Given the description of an element on the screen output the (x, y) to click on. 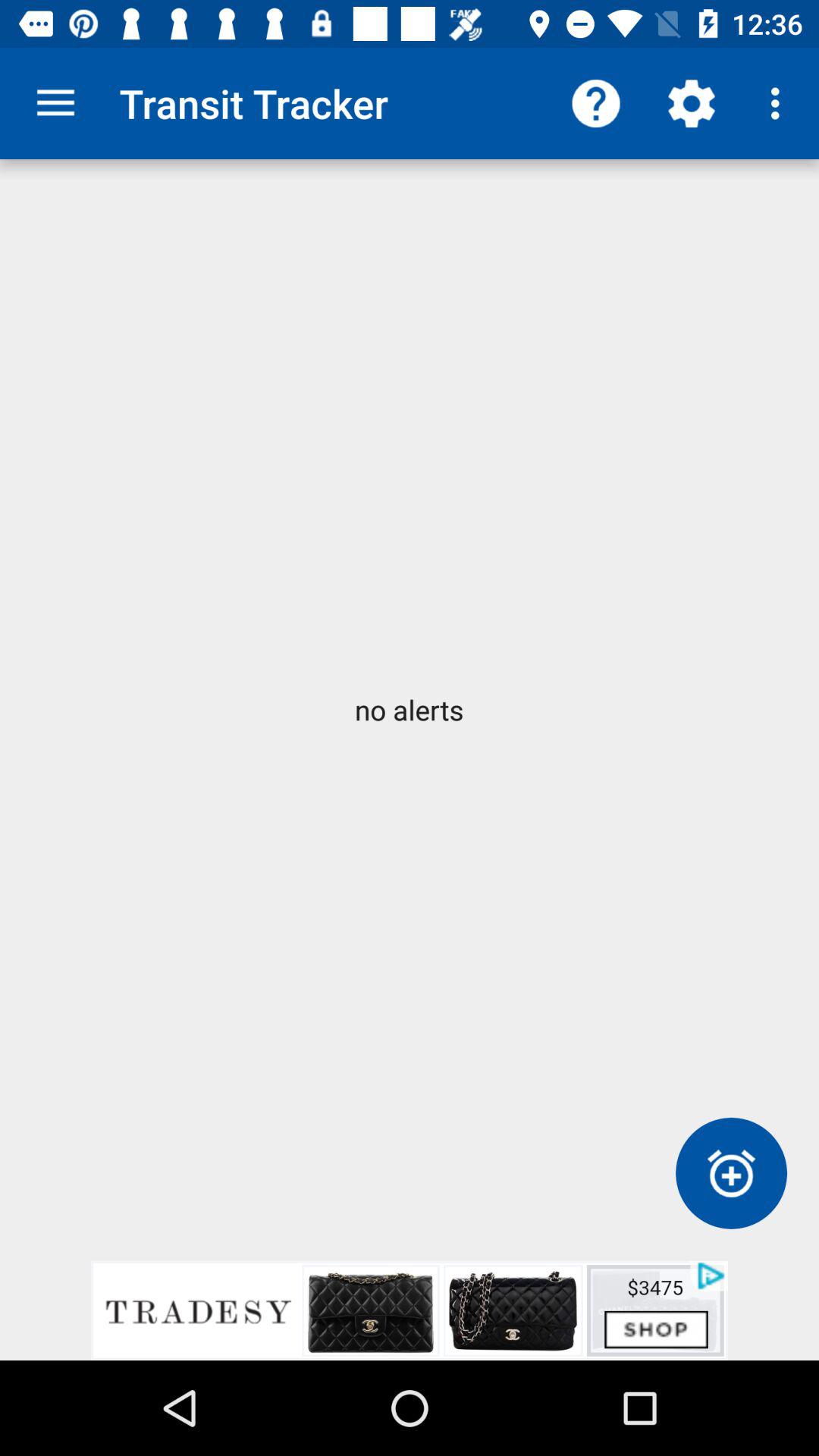
go to advertisement (409, 1310)
